Given the description of an element on the screen output the (x, y) to click on. 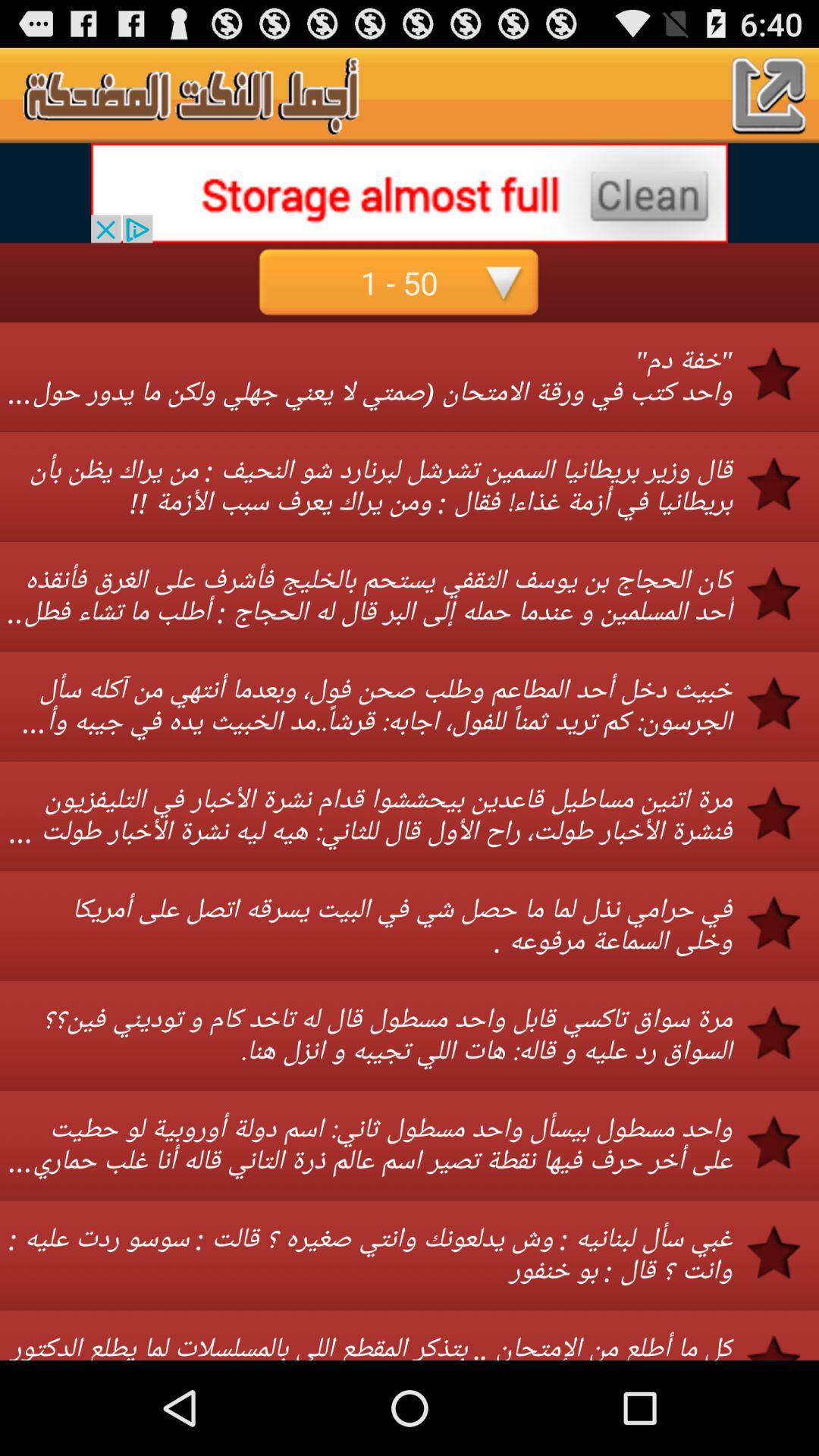
click on the sixth star of the page (783, 922)
click on the third star from the bottom (783, 1141)
click on the fourth star from the top below 1  50 (783, 703)
